Given the description of an element on the screen output the (x, y) to click on. 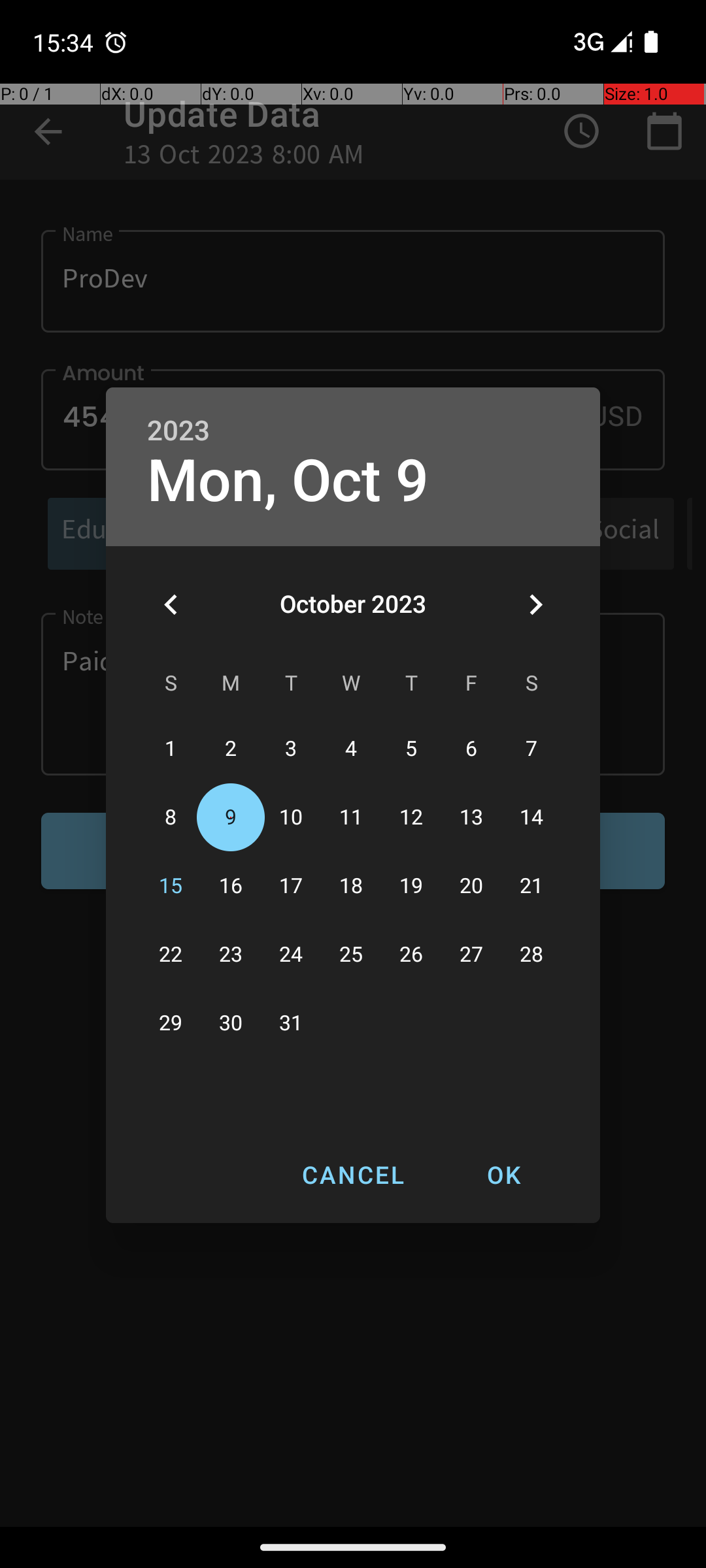
Mon, Oct 9 Element type: android.widget.TextView (287, 480)
